Given the description of an element on the screen output the (x, y) to click on. 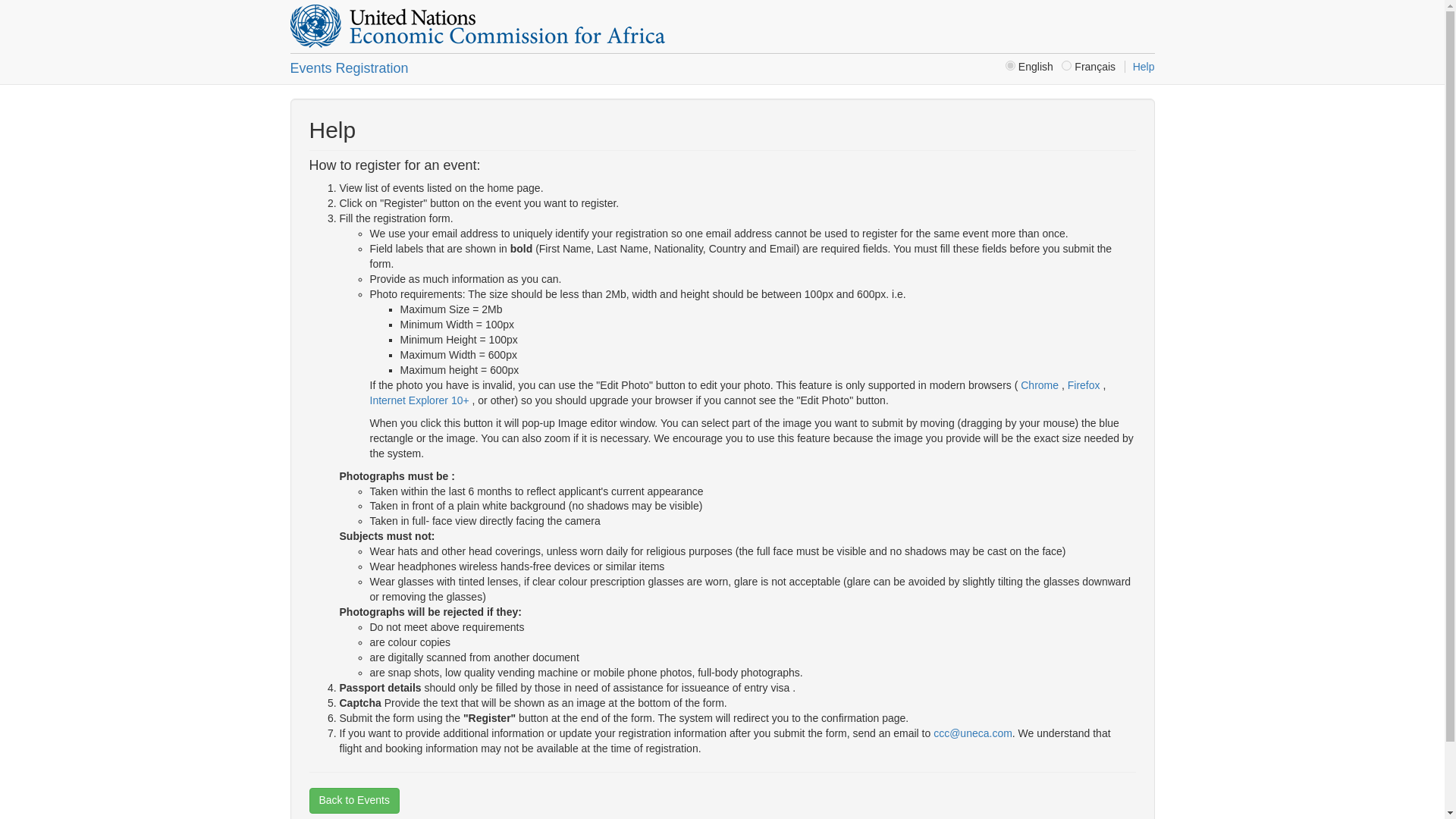
Help (1139, 66)
Firefox (1085, 385)
en-us (1010, 65)
Chrome (1039, 385)
fr (1066, 65)
Back to Events (353, 800)
Events Registration (348, 68)
